Given the description of an element on the screen output the (x, y) to click on. 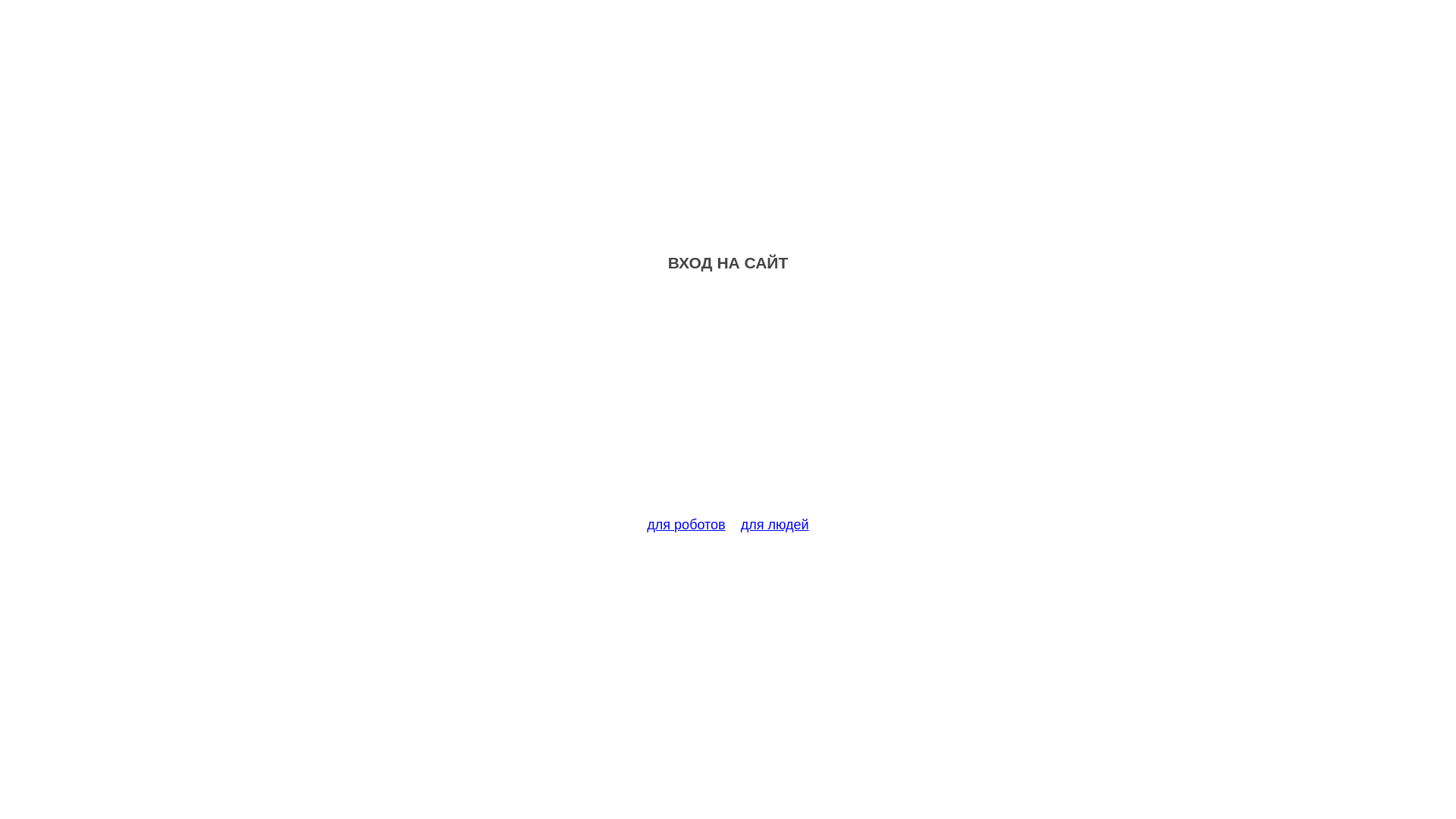
Advertisement Element type: hover (727, 403)
